Given the description of an element on the screen output the (x, y) to click on. 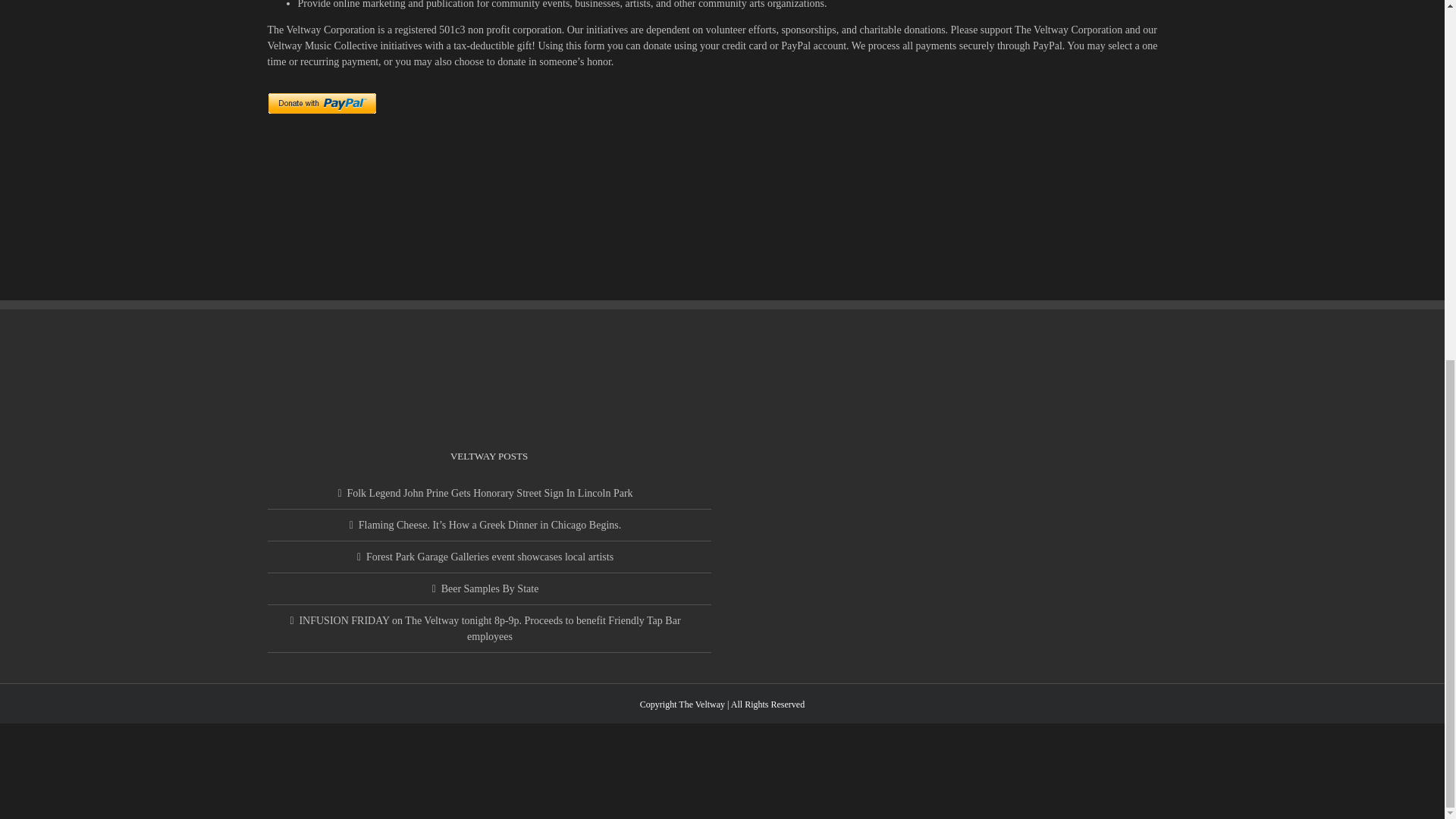
Forest Park Garage Galleries event showcases local artists (489, 555)
Beer Samples By State (489, 587)
